Given the description of an element on the screen output the (x, y) to click on. 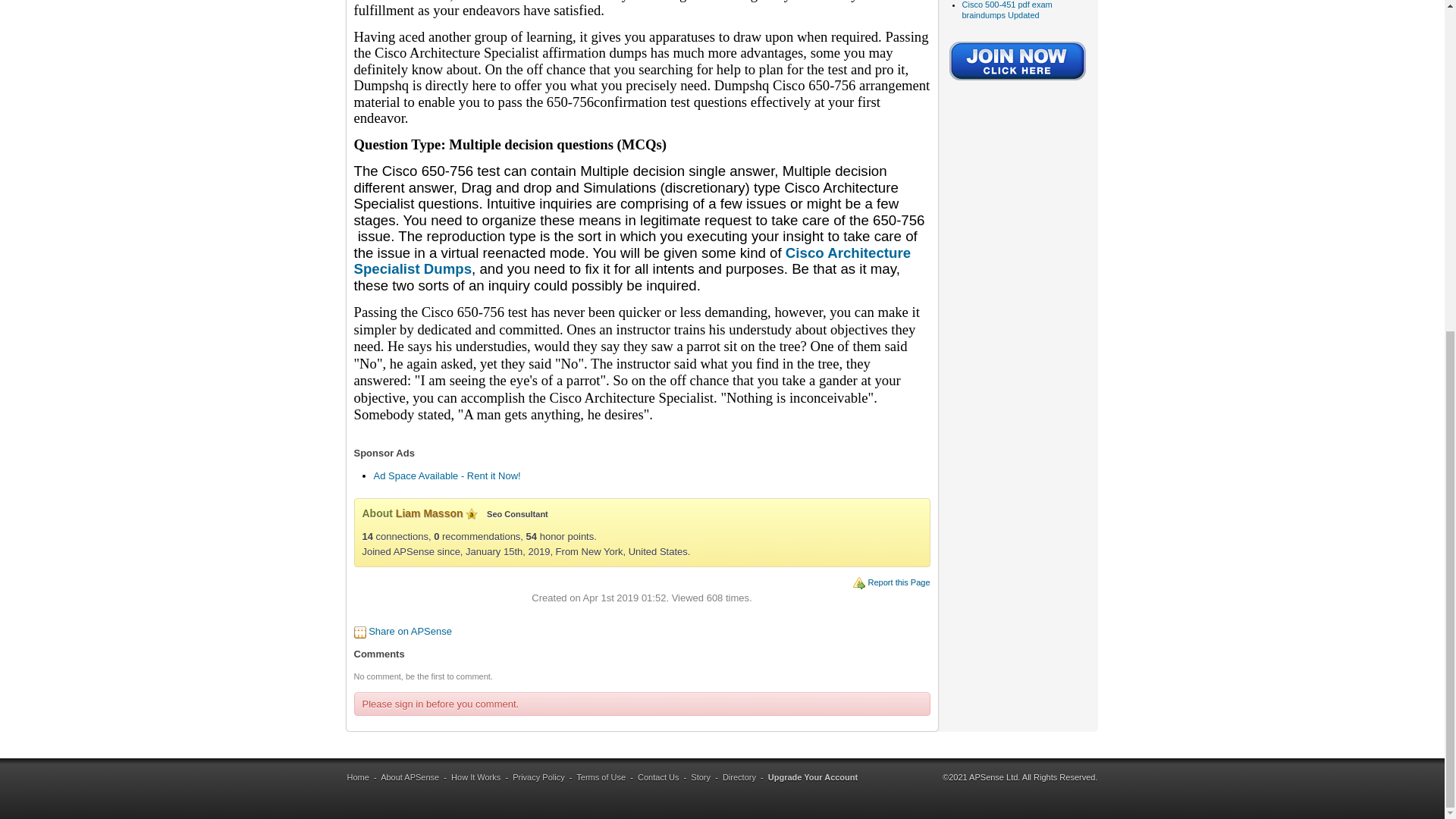
Innovator (471, 513)
Cisco 500-451 pdf exam braindumps Updated (1005, 9)
Share on APSense (409, 631)
Cisco Architecture Specialist Dumps (632, 260)
Share on APSense (409, 631)
Liam Masson (429, 512)
Join APSense Social Network (1017, 81)
Ad Space Available - Rent it Now! (445, 475)
Report this Page (898, 582)
